Given the description of an element on the screen output the (x, y) to click on. 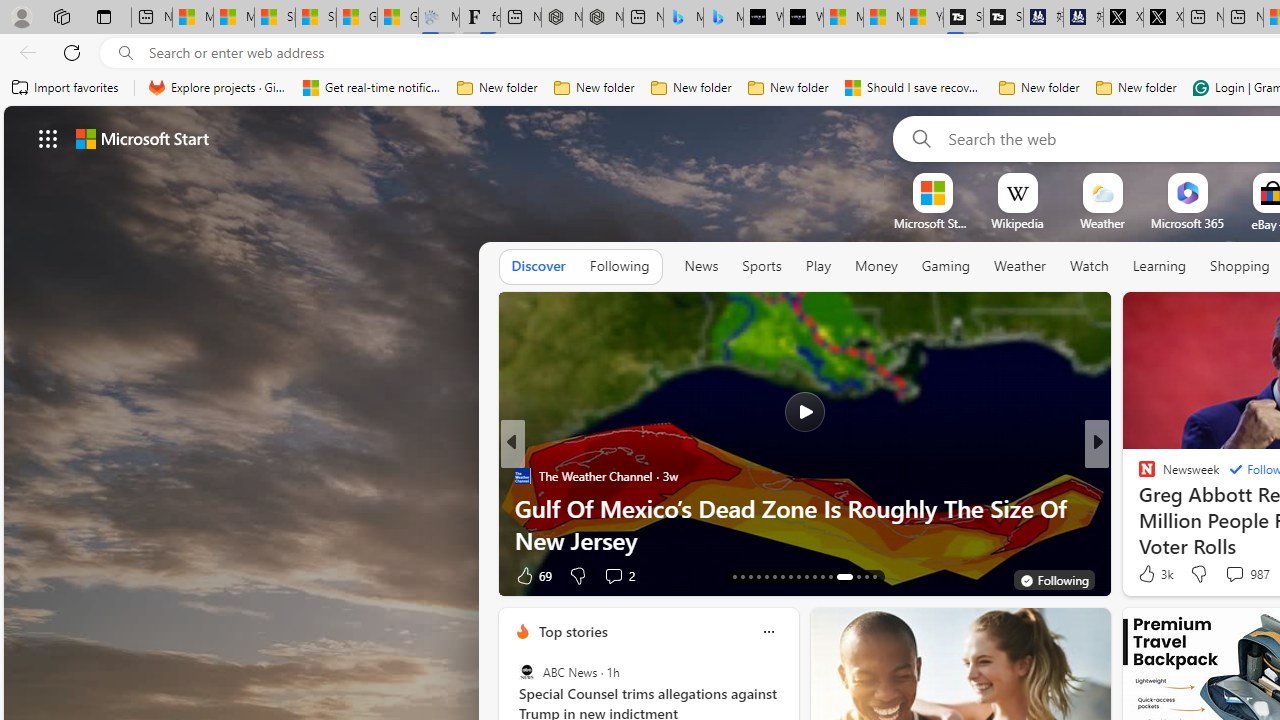
Weather (1020, 265)
Top stories (572, 631)
Microsoft Bing Travel - Stays in Bangkok, Bangkok, Thailand (683, 17)
Microsoft Bing Travel - Shangri-La Hotel Bangkok (723, 17)
Dislike (1198, 574)
Learning (1159, 267)
Sports (761, 265)
Microsoft Start Sports (932, 223)
Weather (1019, 267)
Discover (538, 267)
View comments 85 Comment (1237, 574)
Ad (1142, 575)
AutomationID: tab-14 (742, 576)
